Given the description of an element on the screen output the (x, y) to click on. 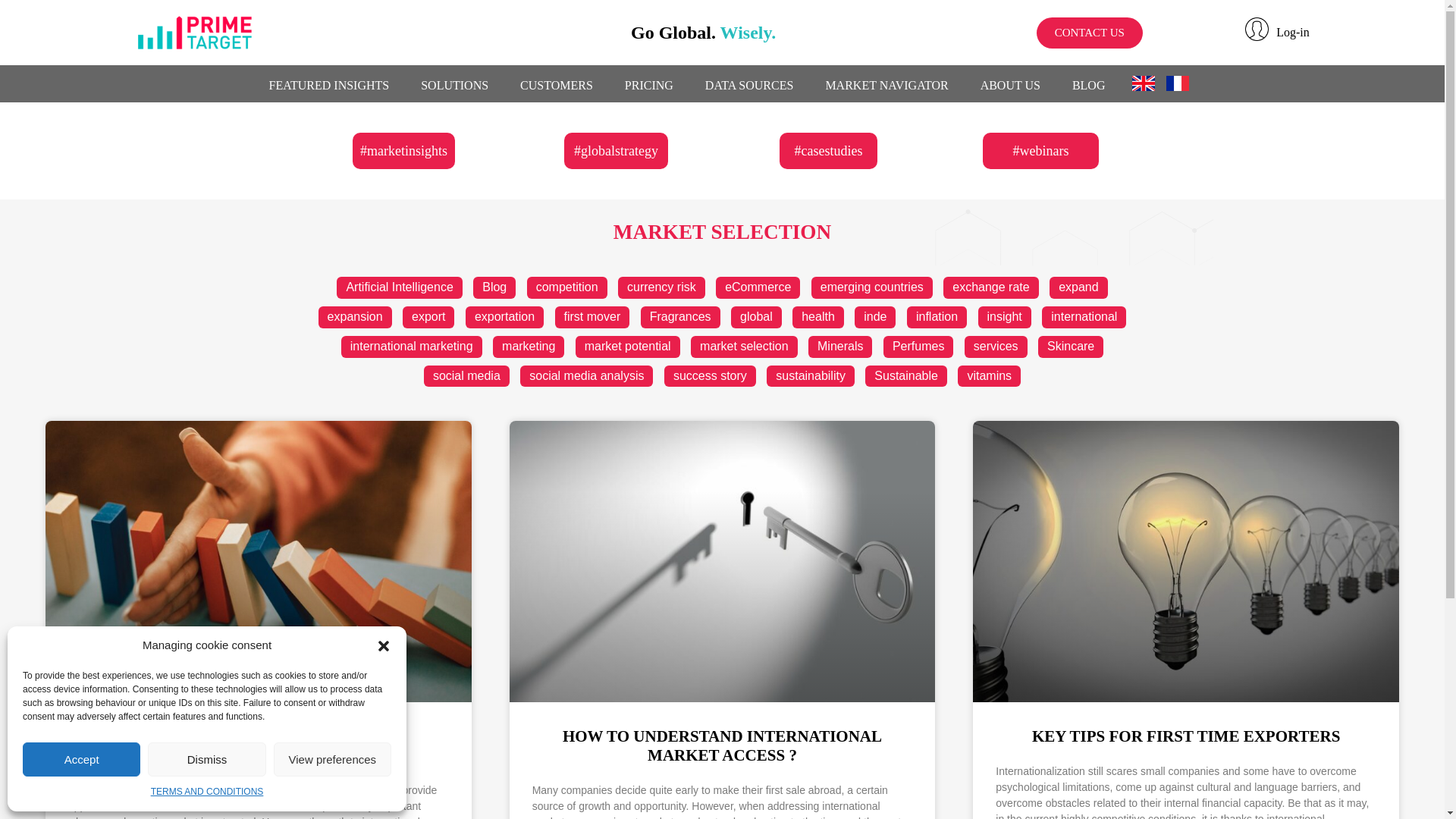
View preferences (332, 759)
CUSTOMERS (556, 85)
MARKET NAVIGATOR (885, 85)
CONTACT US (1089, 32)
Accept (81, 759)
TERMS AND CONDITIONS (207, 791)
English (1147, 83)
PRICING (649, 85)
Log-in (1292, 31)
SOLUTIONS (454, 85)
DATA SOURCES (749, 85)
Dismiss (206, 759)
FEATURED INSIGHTS (329, 85)
BLOG (1088, 85)
ABOUT US (1010, 85)
